Given the description of an element on the screen output the (x, y) to click on. 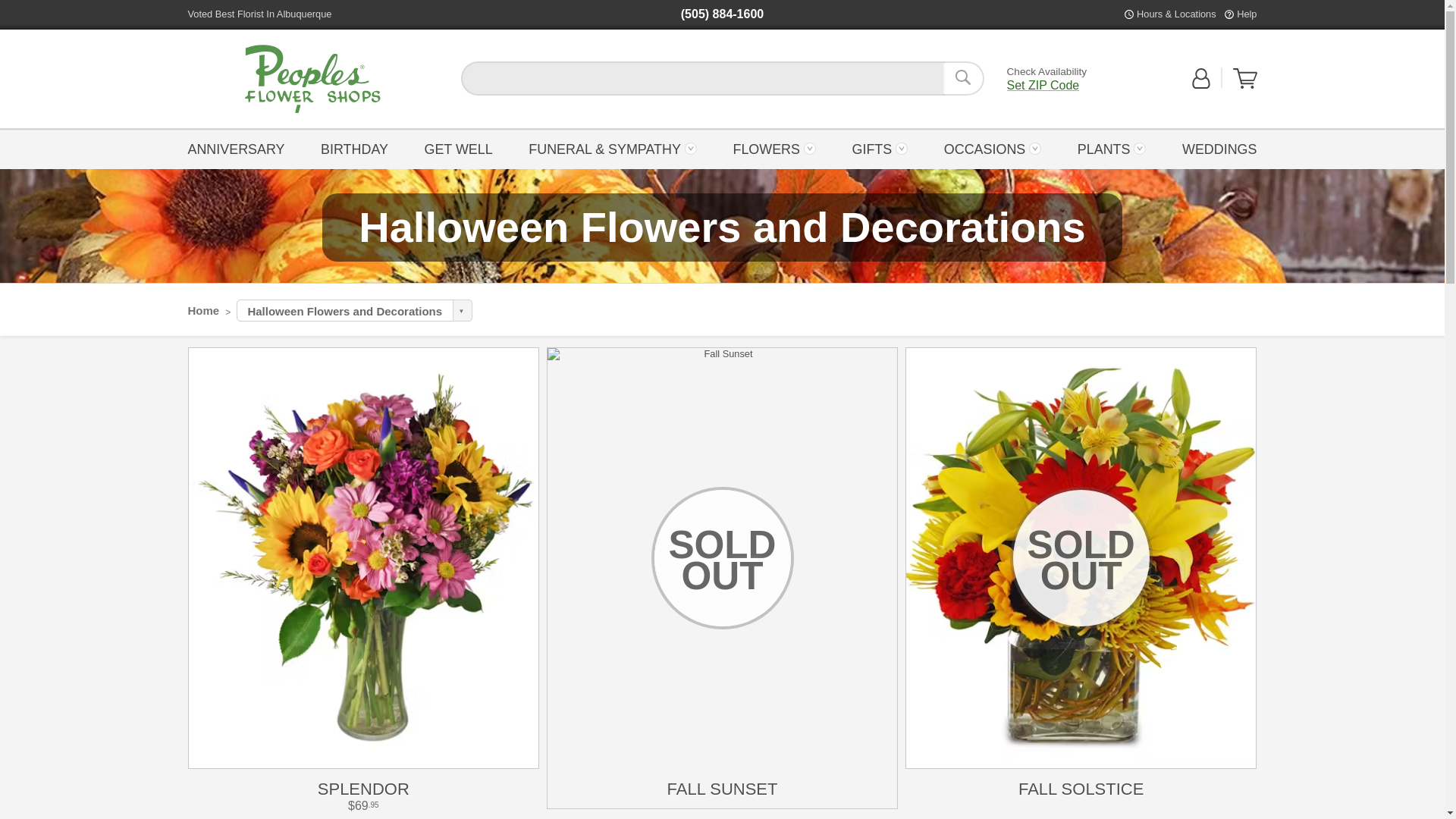
GET WELL (457, 147)
View Your Shopping Cart (1245, 85)
ANNIVERSARY (240, 147)
View Your Shopping Cart (1245, 78)
Set ZIP Code (1043, 85)
Peoples Flower Shops Logo (312, 79)
Search (963, 78)
BIRTHDAY (354, 147)
Back to the Home Page (312, 79)
